Given the description of an element on the screen output the (x, y) to click on. 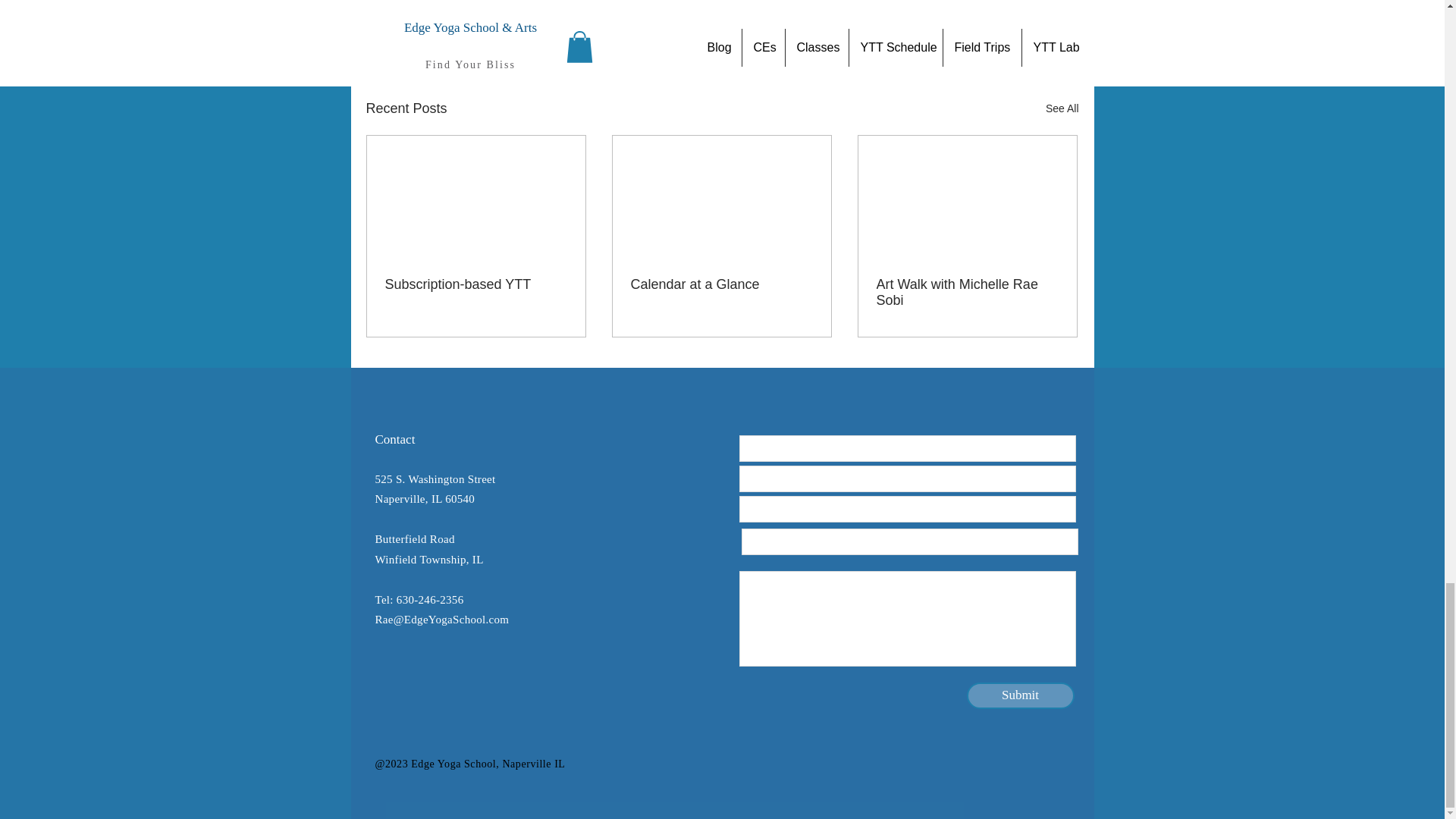
See All (1061, 108)
Calendar at a Glance (721, 284)
Subscription-based YTT (476, 284)
Art Walk with Michelle Rae Sobi (967, 292)
Submit (1020, 694)
